Given the description of an element on the screen output the (x, y) to click on. 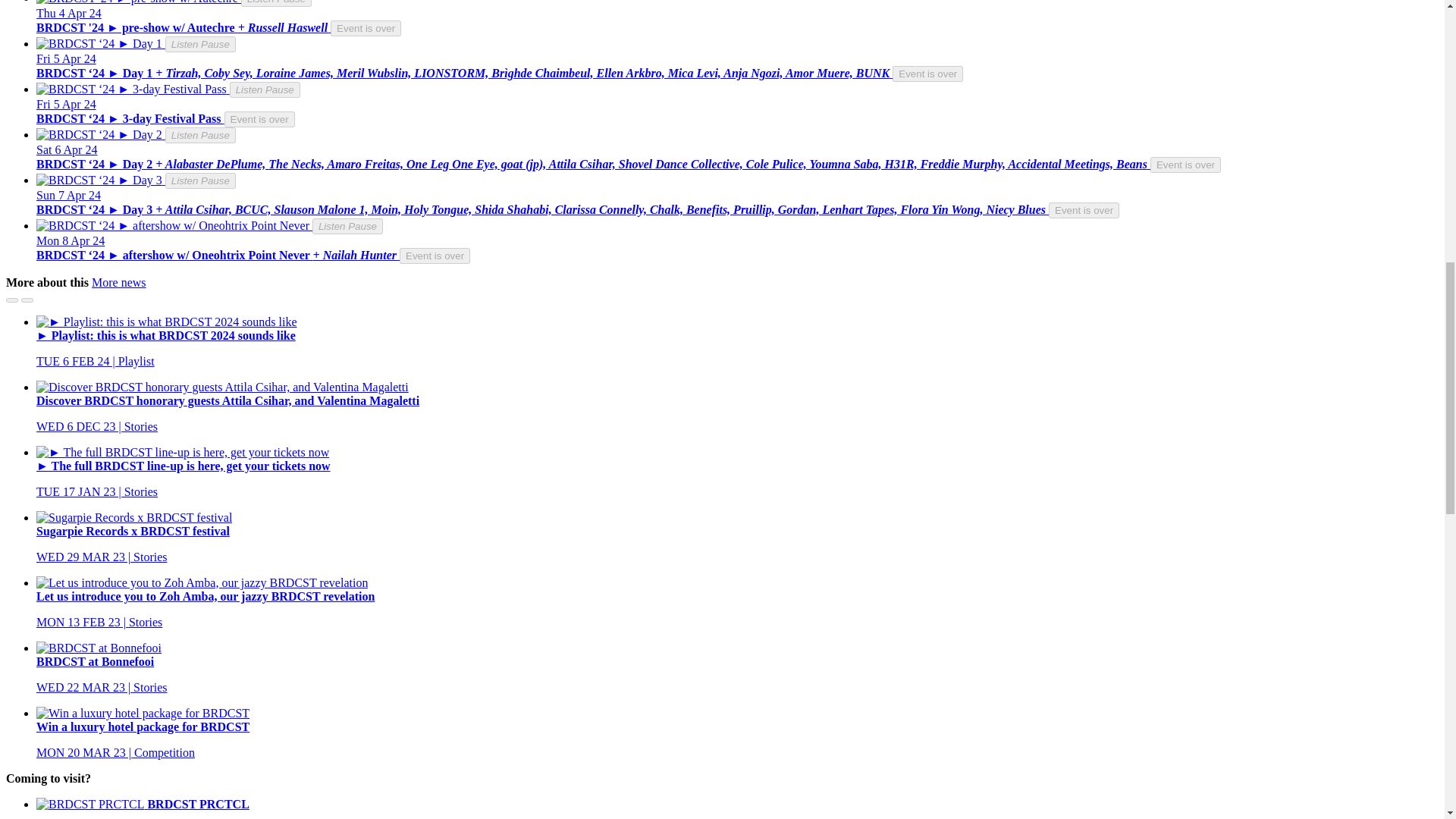
BRDCST PRCTCL (90, 804)
